Given the description of an element on the screen output the (x, y) to click on. 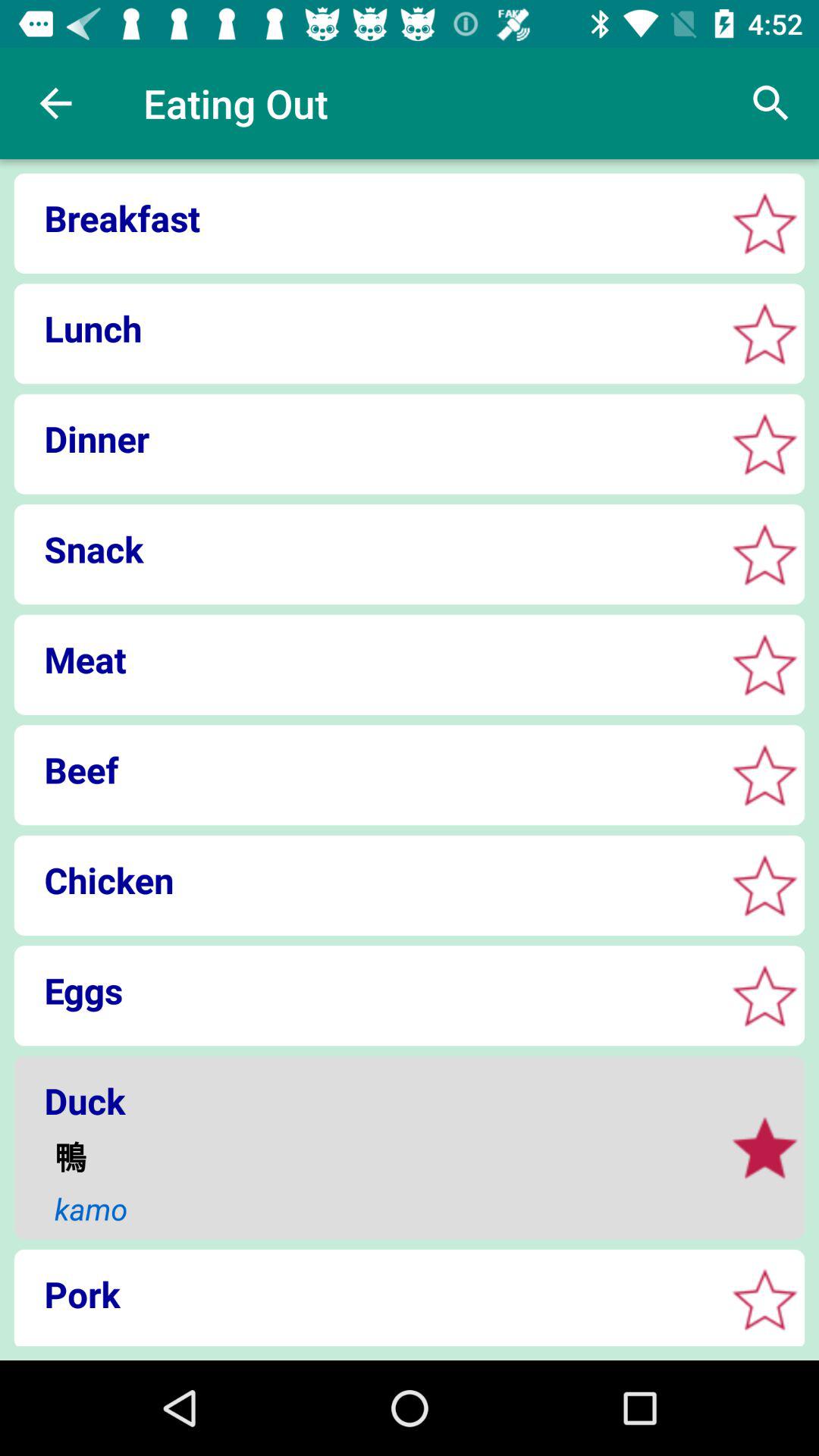
favorite (764, 885)
